Given the description of an element on the screen output the (x, y) to click on. 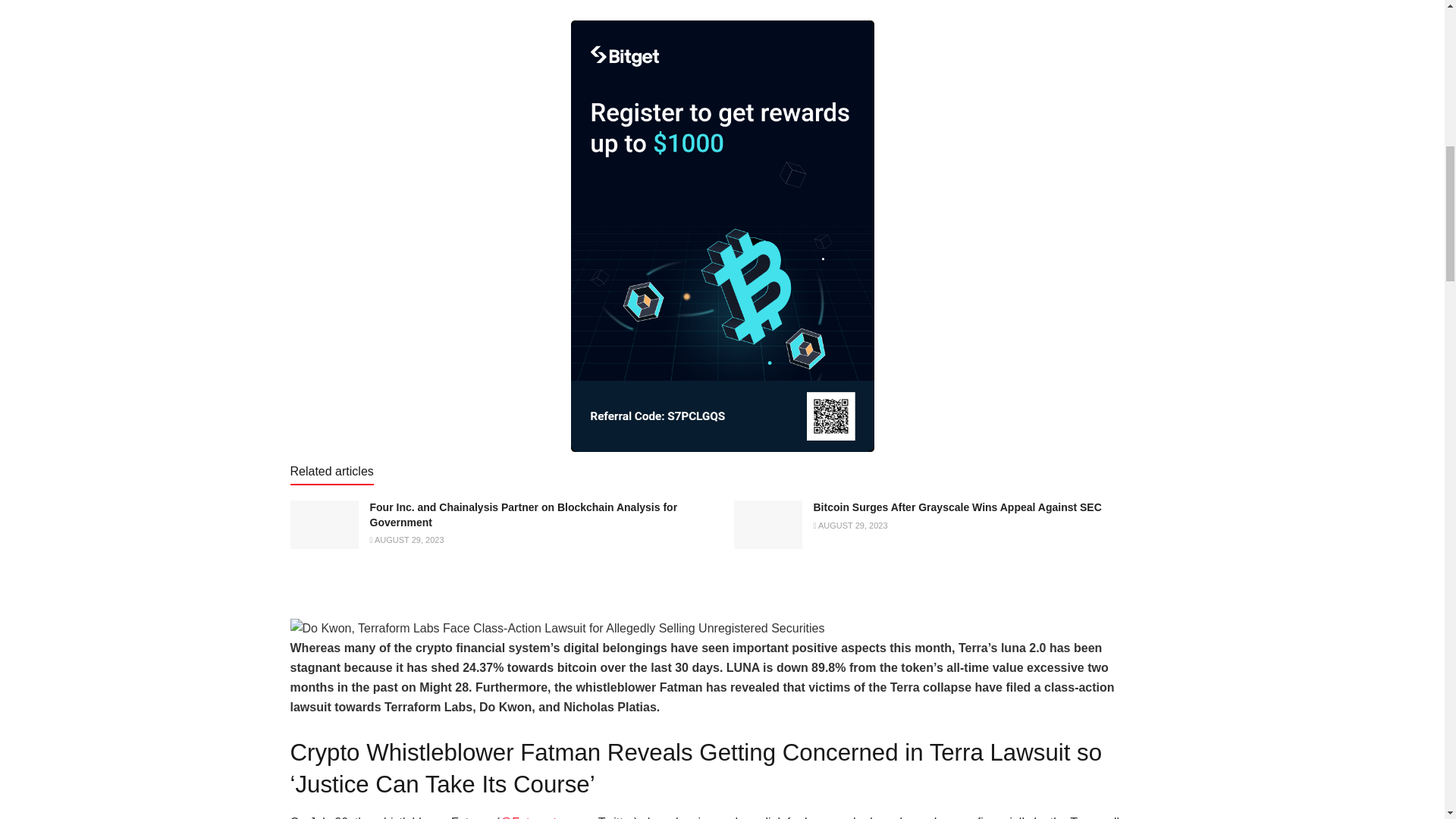
AUGUST 29, 2023 (406, 539)
AUGUST 29, 2023 (849, 524)
Bitcoin Surges After Grayscale Wins Appeal Against SEC (956, 507)
